Given the description of an element on the screen output the (x, y) to click on. 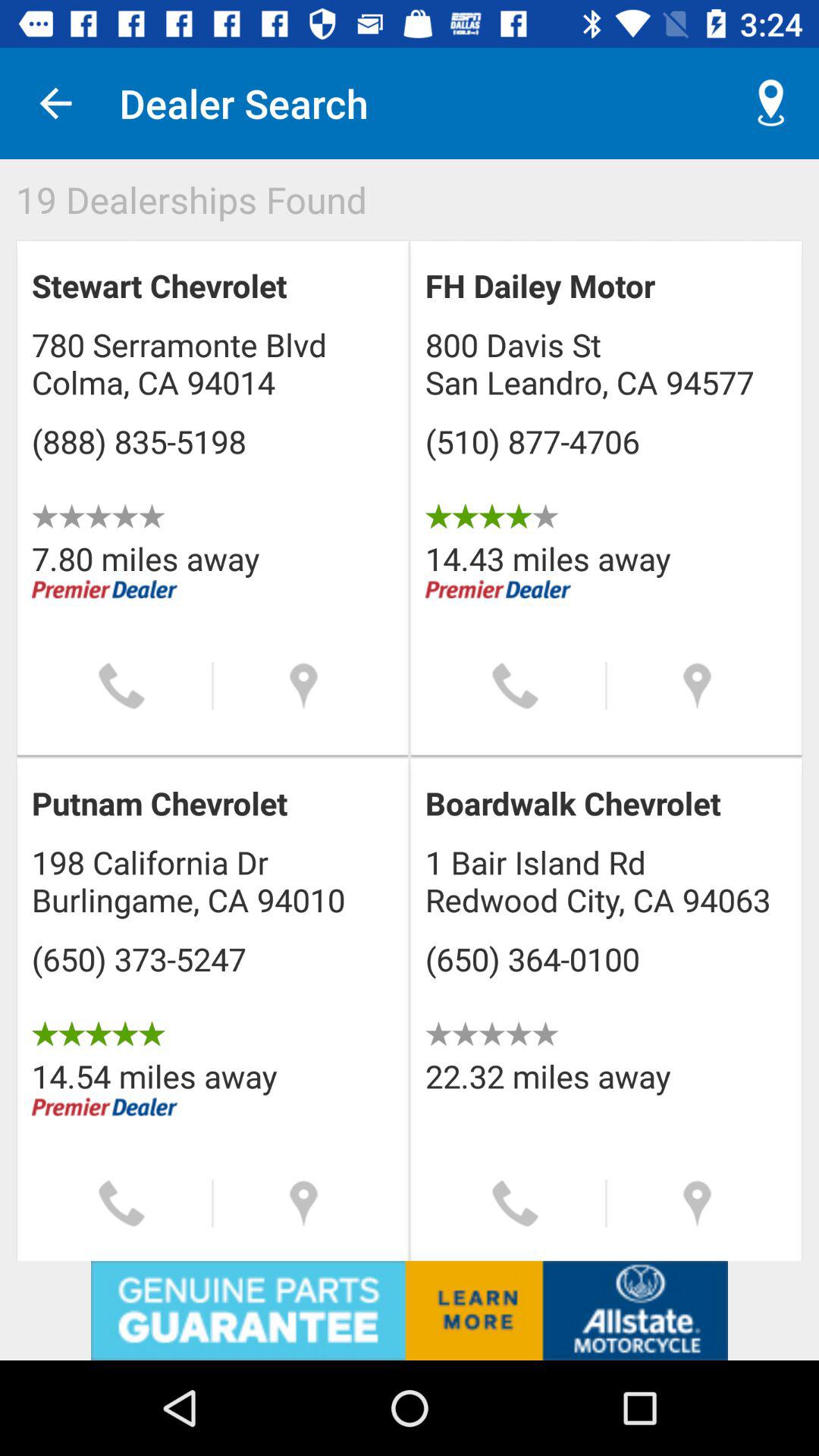
location information (697, 685)
